Given the description of an element on the screen output the (x, y) to click on. 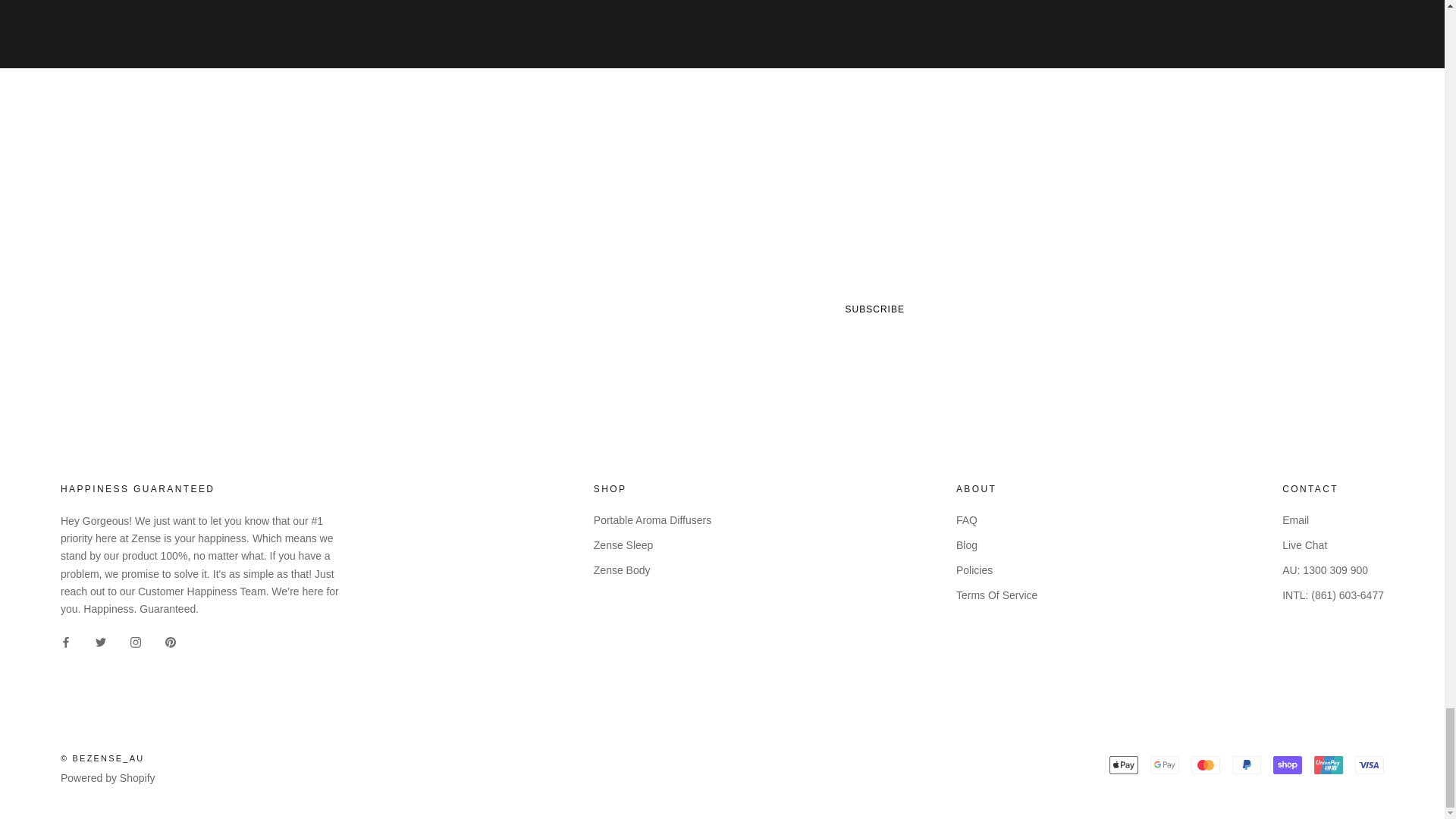
Shop Pay (1286, 764)
Apple Pay (1123, 764)
Visa (1369, 764)
Google Pay (1164, 764)
Mastercard (1205, 764)
PayPal (1245, 764)
Union Pay (1328, 764)
